Given the description of an element on the screen output the (x, y) to click on. 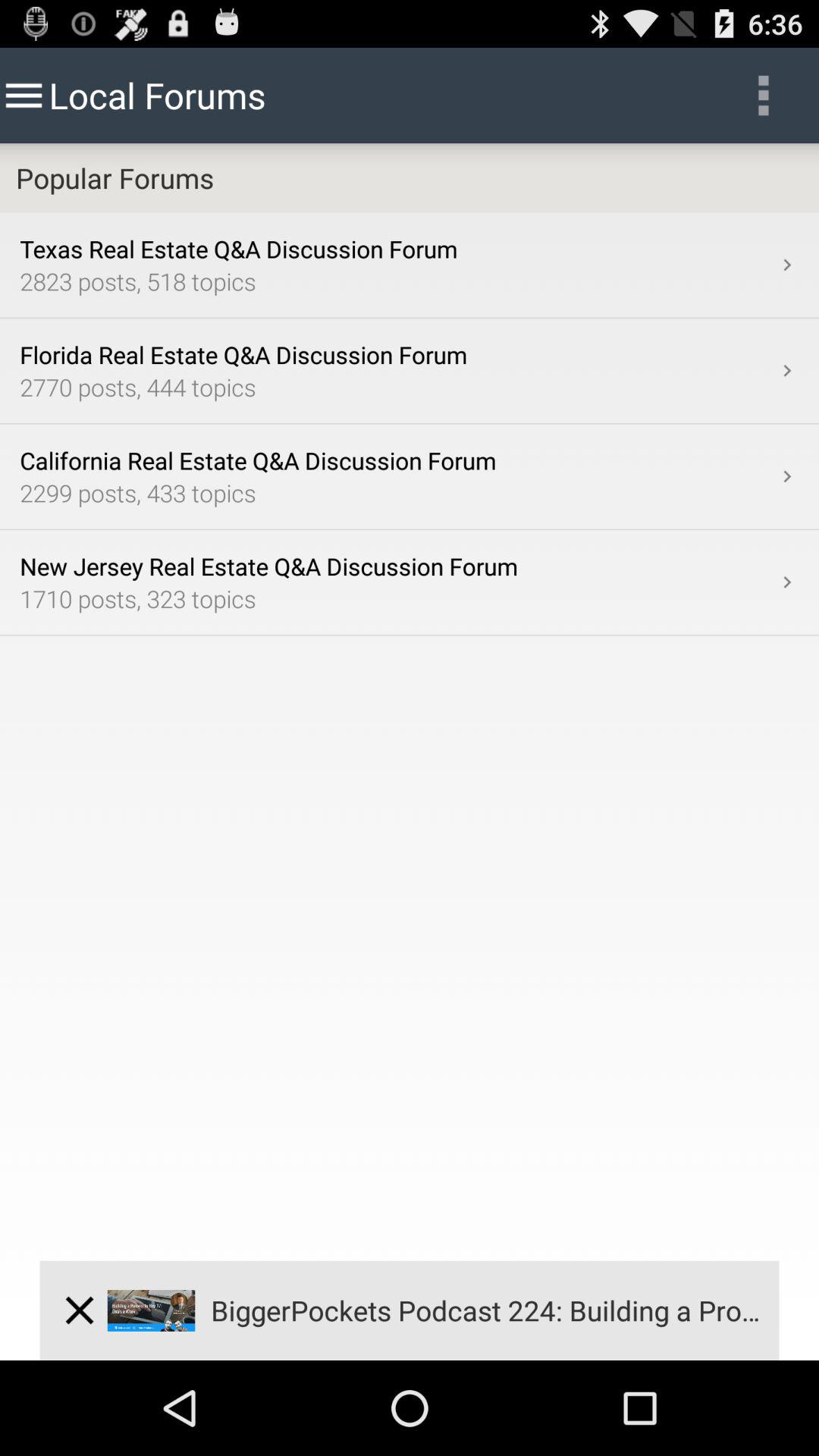
choose the icon below 1710 posts 323 app (79, 1310)
